Given the description of an element on the screen output the (x, y) to click on. 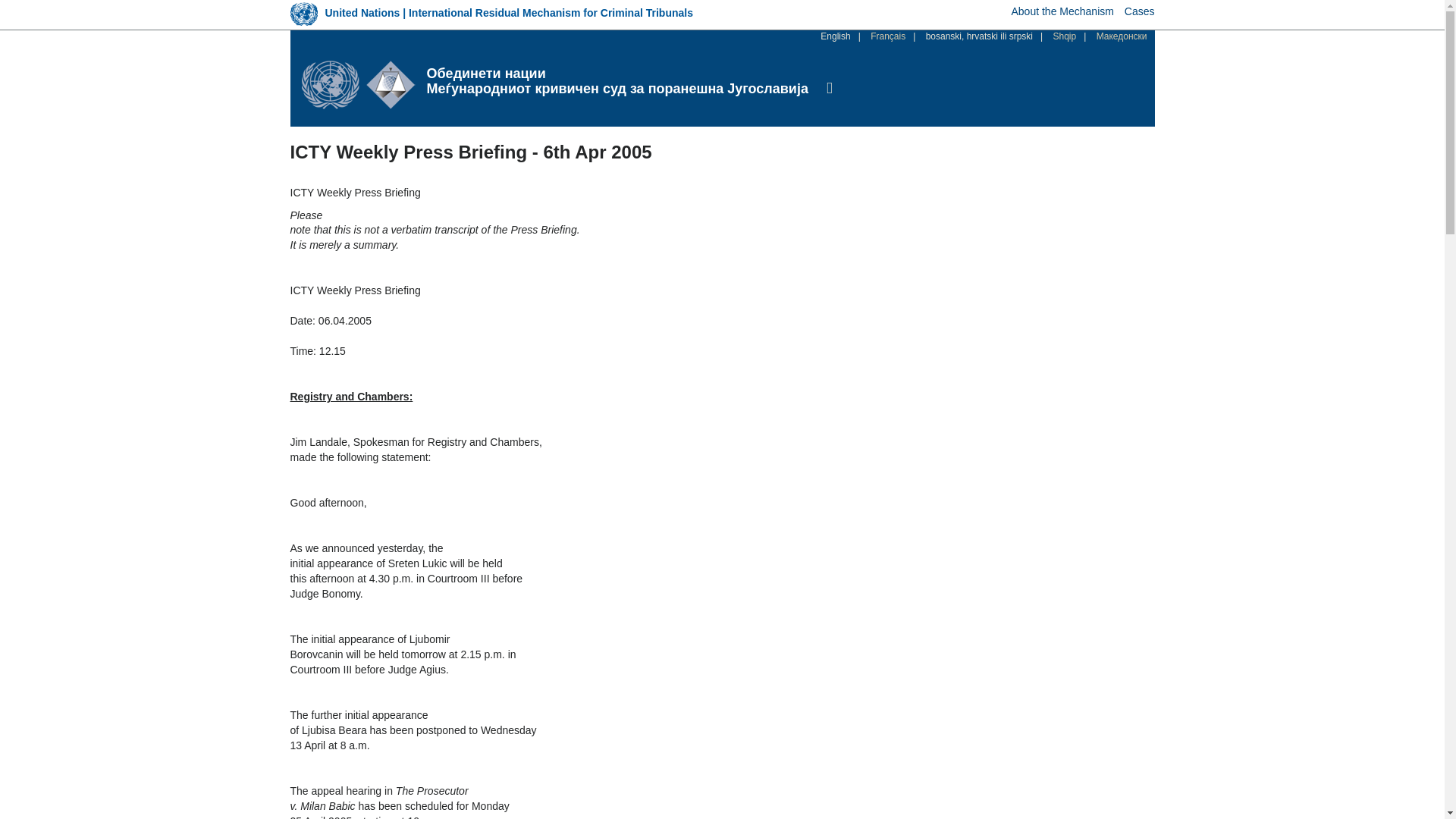
English (835, 36)
bosanski, hrvatski ili srpski (979, 36)
ICTY Weekly Press Briefing - 6th Apr 2005 (979, 36)
Home (363, 84)
Home (616, 73)
About the Mechanism (1062, 10)
Cases (1139, 10)
ICTY Weekly Press Briefing - 6th Apr 2005 (835, 36)
